Given the description of an element on the screen output the (x, y) to click on. 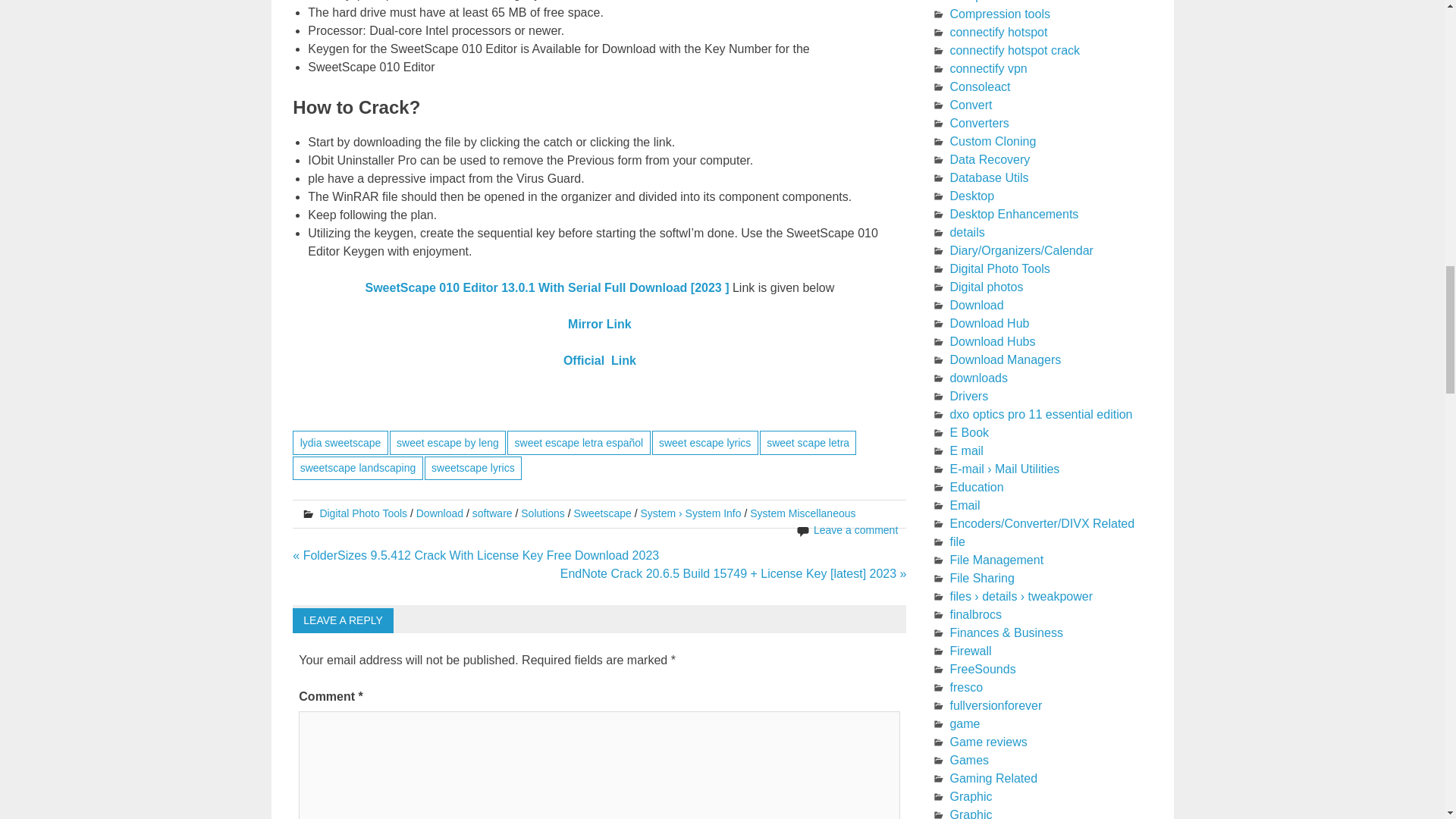
Mirror Link (599, 323)
sweet scape letra (808, 442)
software (491, 512)
Digital Photo Tools (362, 512)
Sweetscape (602, 512)
Leave a comment (855, 530)
sweetscape landscaping (357, 467)
Solutions (542, 512)
Official  Link (599, 359)
sweetscape lyrics (473, 467)
